Given the description of an element on the screen output the (x, y) to click on. 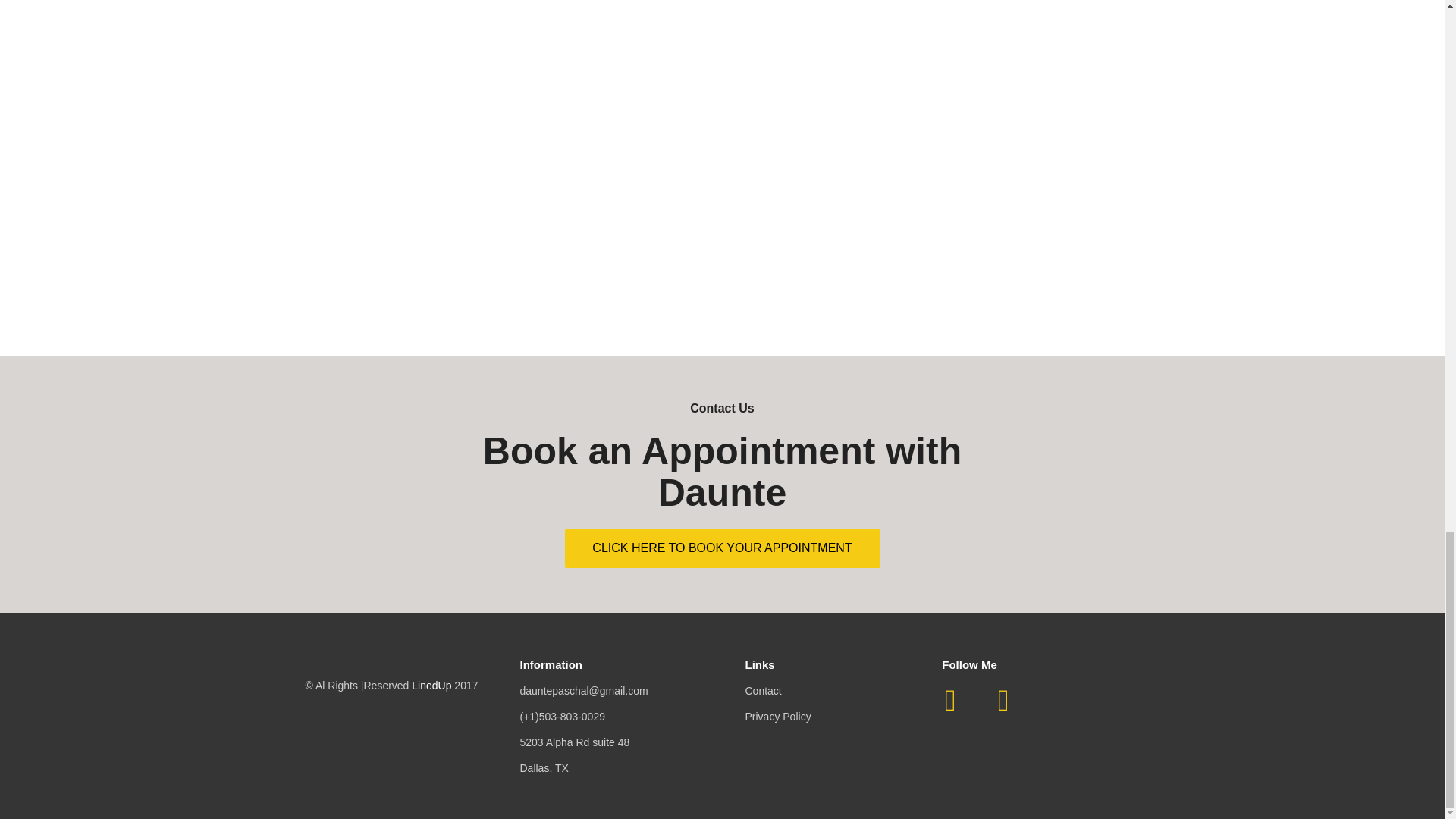
LinedUp (431, 685)
CLICK HERE TO BOOK YOUR APPOINTMENT (721, 548)
Privacy Policy (777, 716)
Contact (762, 690)
